Given the description of an element on the screen output the (x, y) to click on. 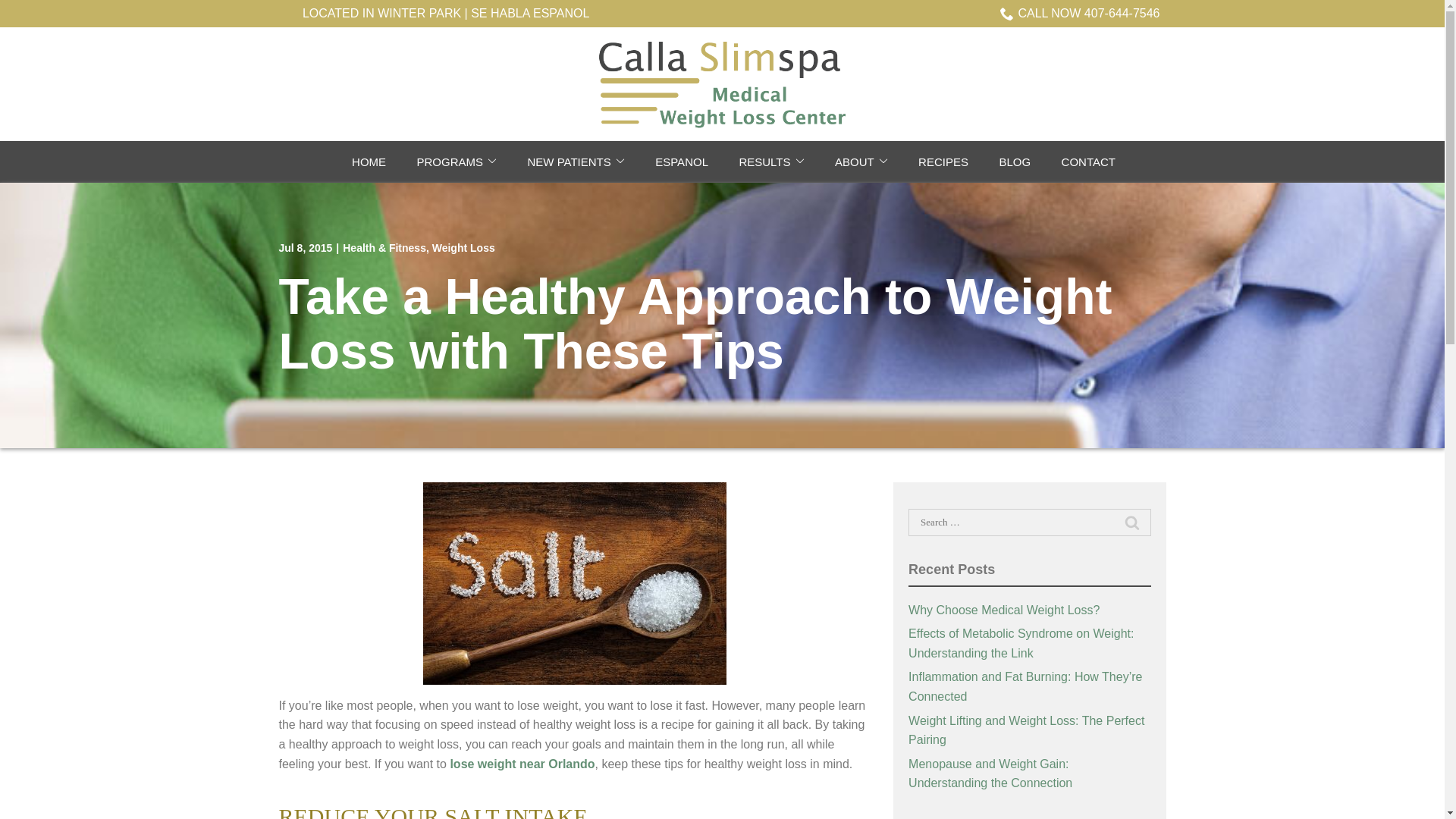
CALL NOW 407-644-7546 (1079, 13)
